Given the description of an element on the screen output the (x, y) to click on. 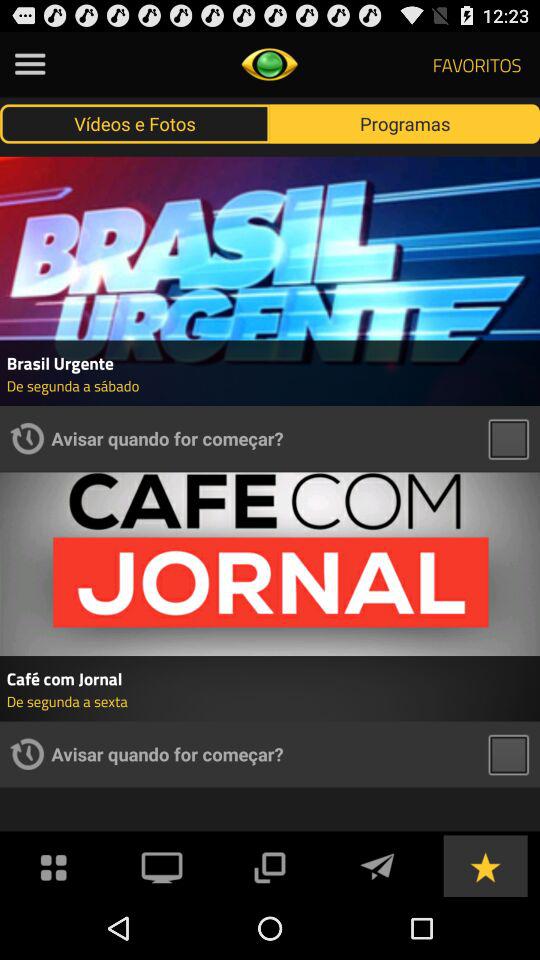
grade (485, 865)
